Given the description of an element on the screen output the (x, y) to click on. 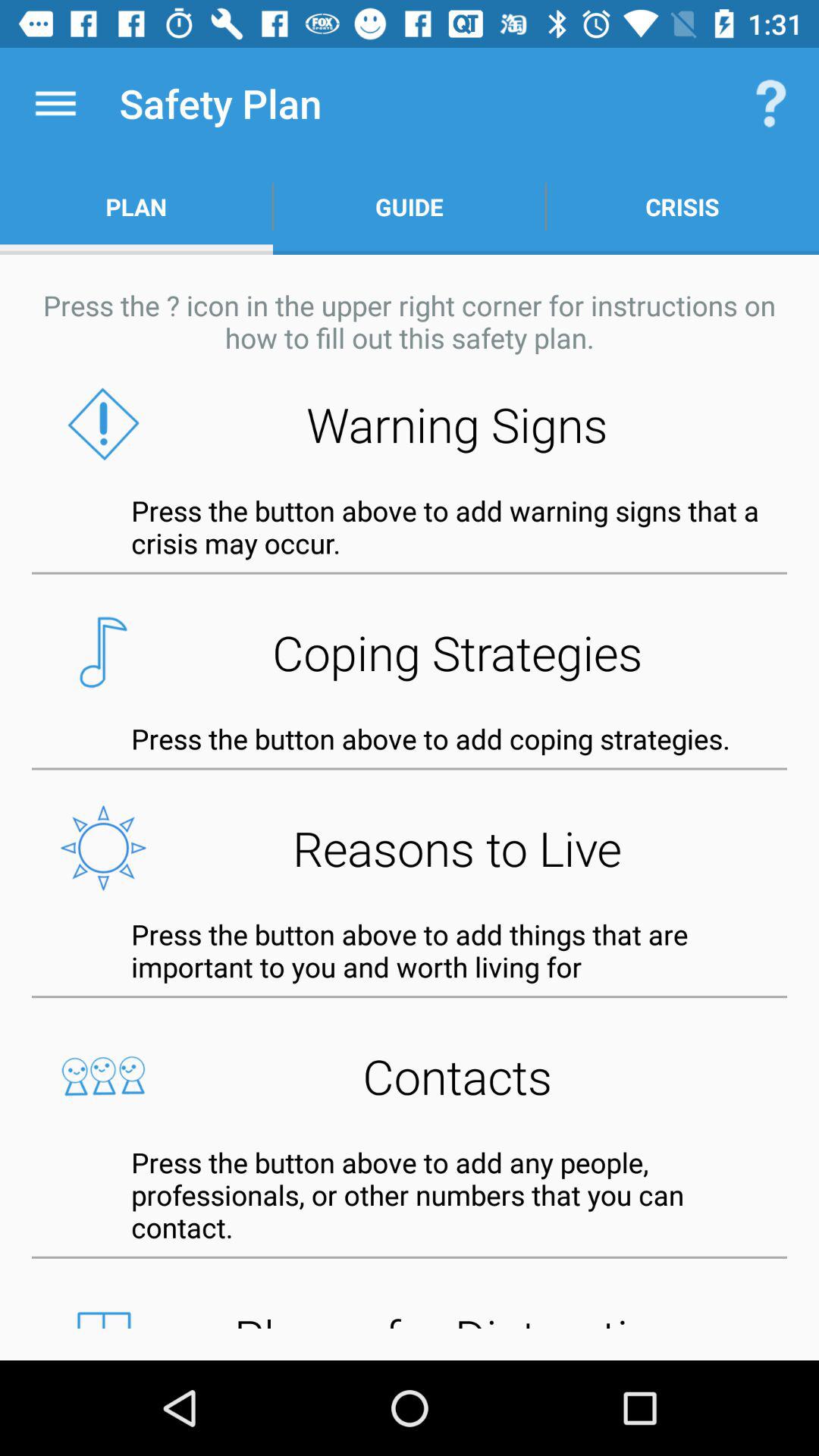
tap item above the plan item (55, 103)
